Given the description of an element on the screen output the (x, y) to click on. 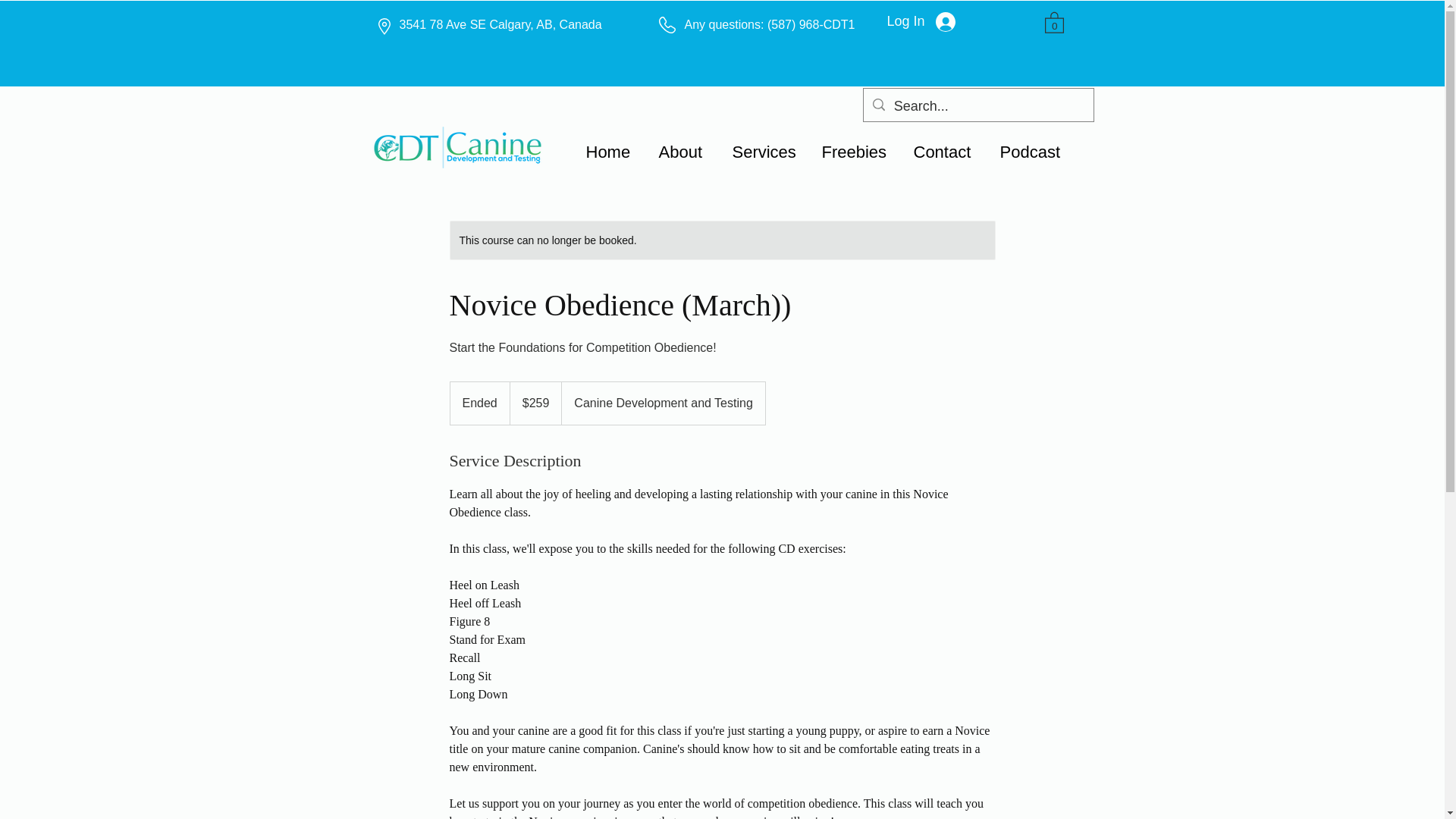
Services (769, 151)
Freebies (859, 151)
About (686, 151)
Home (614, 151)
Log In (921, 21)
Podcast (1035, 151)
Contact (948, 151)
